Given the description of an element on the screen output the (x, y) to click on. 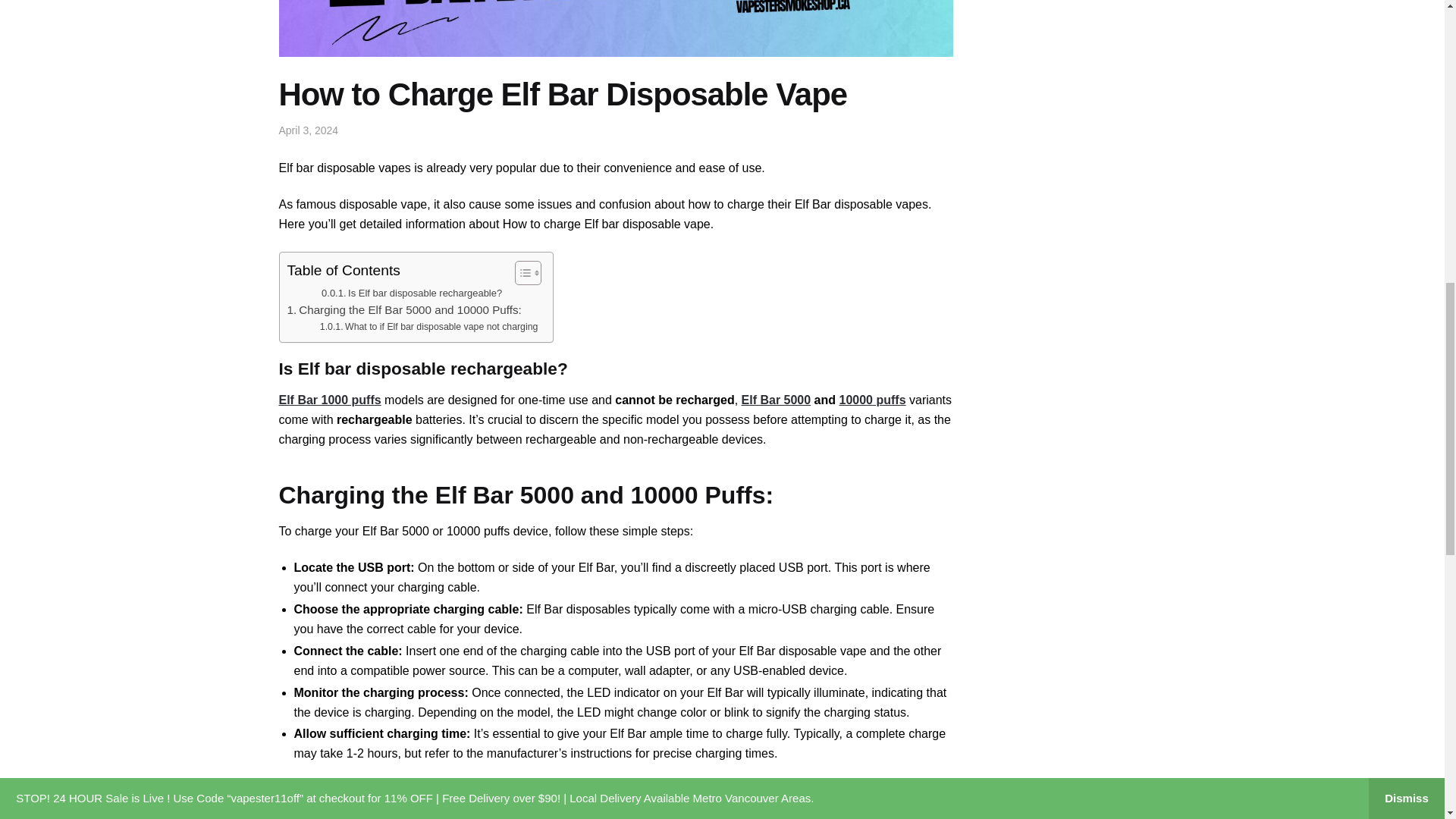
Charging the Elf Bar 5000 and 10000 Puffs: (403, 310)
What to if Elf bar disposable vape not charging (429, 327)
Is Elf bar disposable rechargeable? (411, 293)
